Given the description of an element on the screen output the (x, y) to click on. 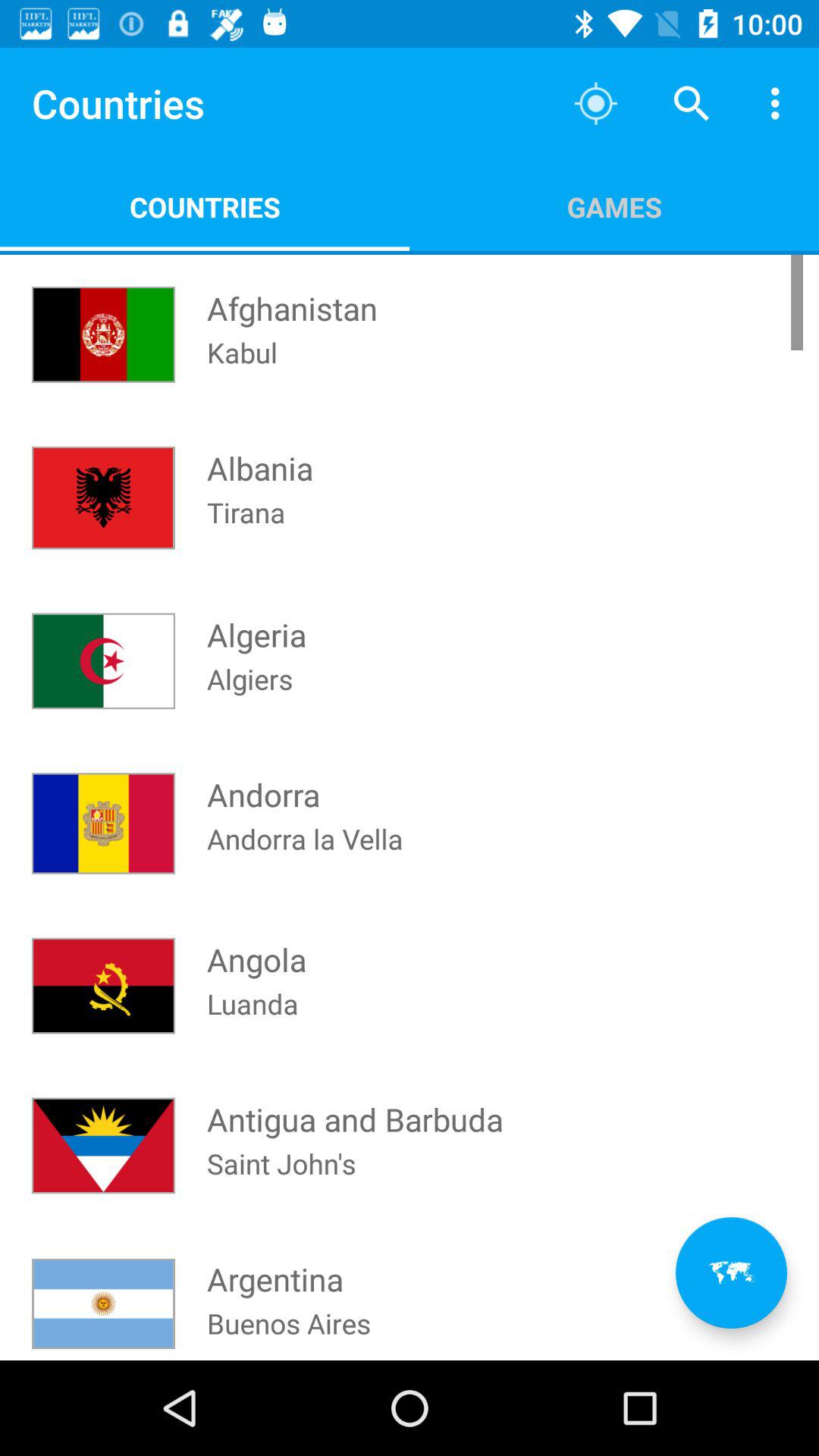
open the icon above the angola item (305, 858)
